Given the description of an element on the screen output the (x, y) to click on. 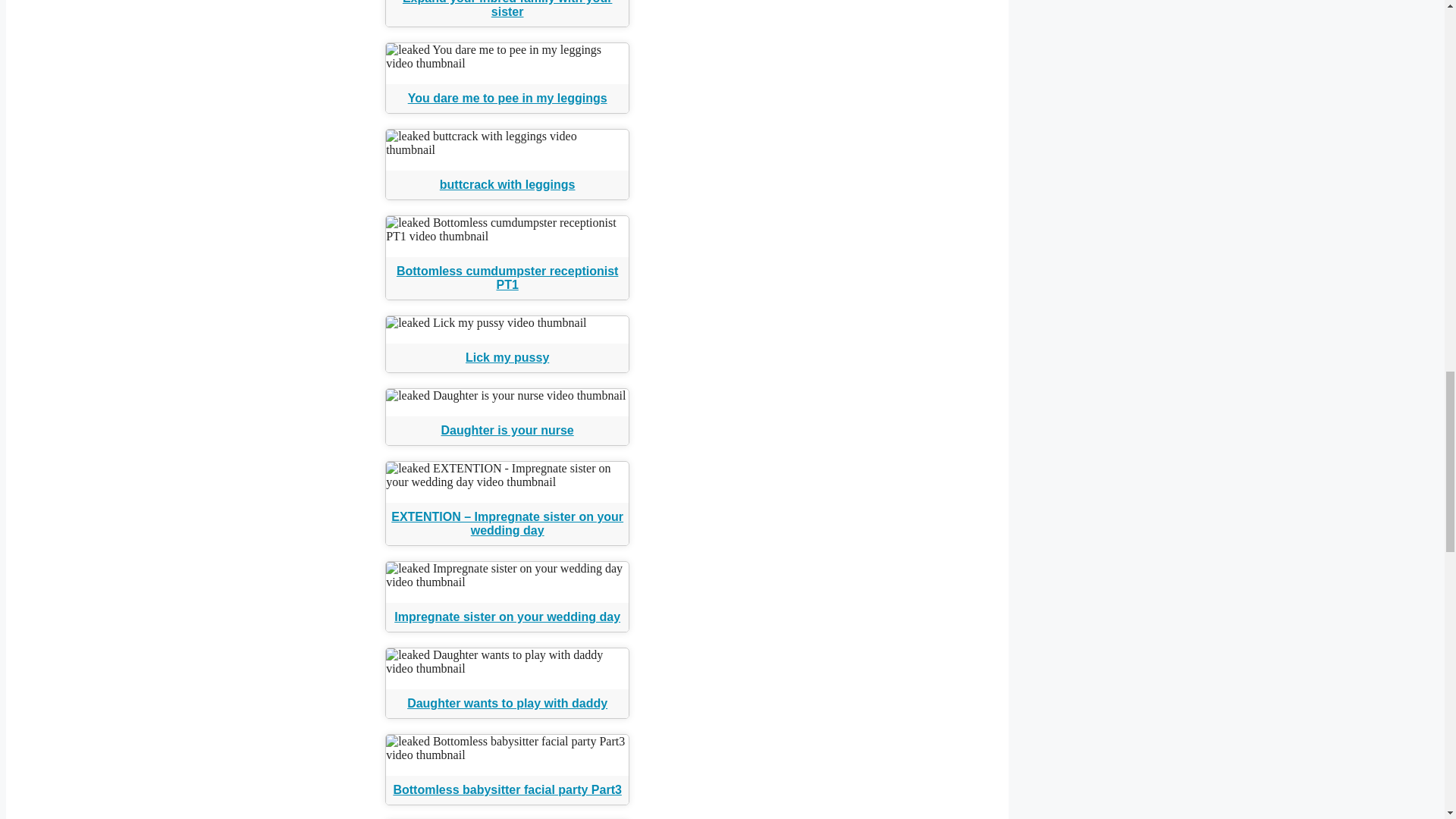
buttcrack with leggings (507, 184)
You dare me to pee in my leggings (507, 97)
Daughter is your nurse (507, 430)
Lexyalex12 Leaked Full Videos 12 (506, 229)
Lexyalex12 Leaked Full Videos 13 (506, 323)
Daughter wants to play with daddy (507, 703)
Expand your inbred family with your sister (507, 9)
Bottomless cumdumpster receptionist PT1 (507, 277)
Impregnate sister on your wedding day (507, 616)
Bottomless babysitter facial party Part3 (507, 789)
